Given the description of an element on the screen output the (x, y) to click on. 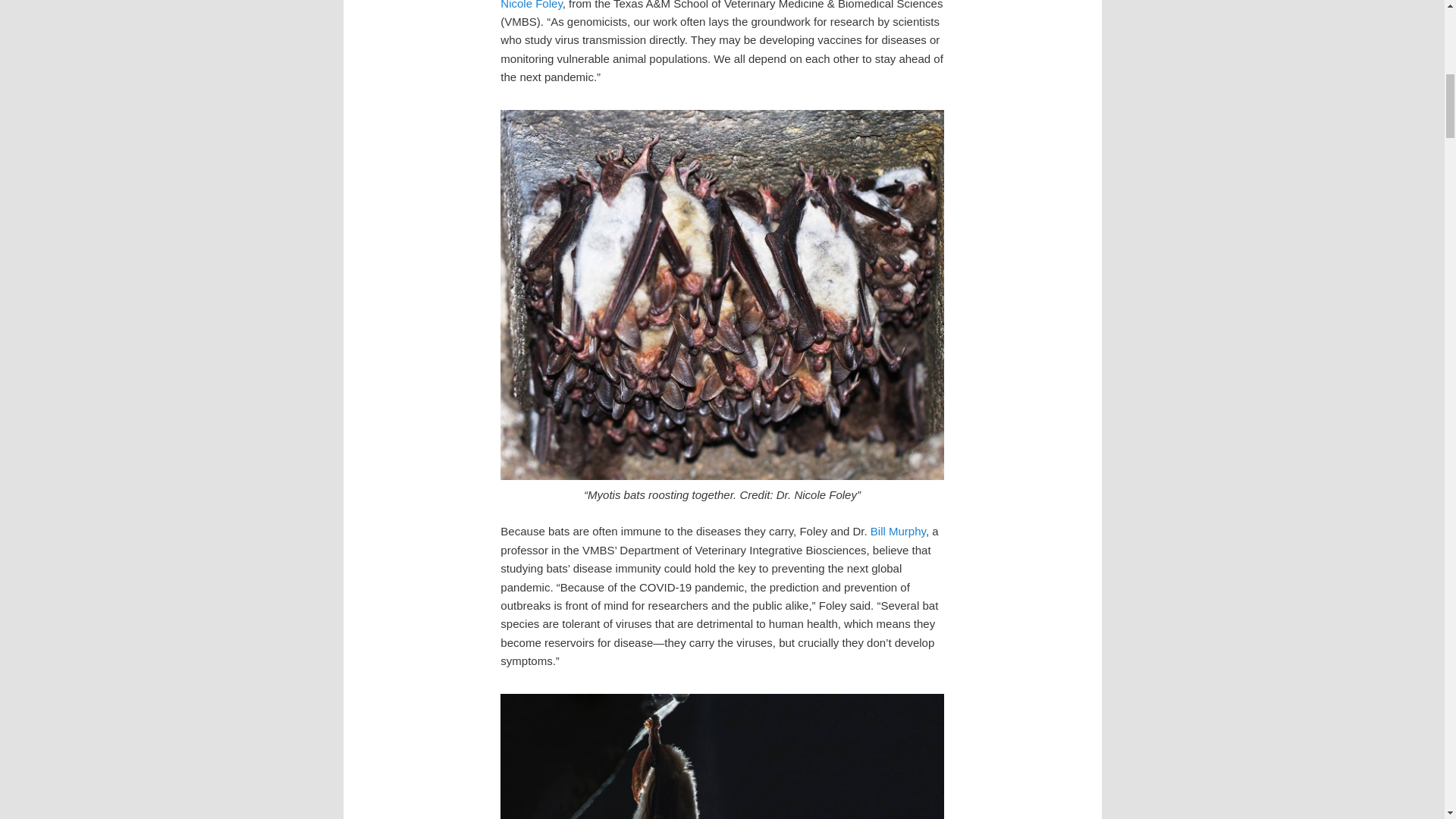
Nicole Foley (531, 4)
Bill Murphy (898, 530)
